Given the description of an element on the screen output the (x, y) to click on. 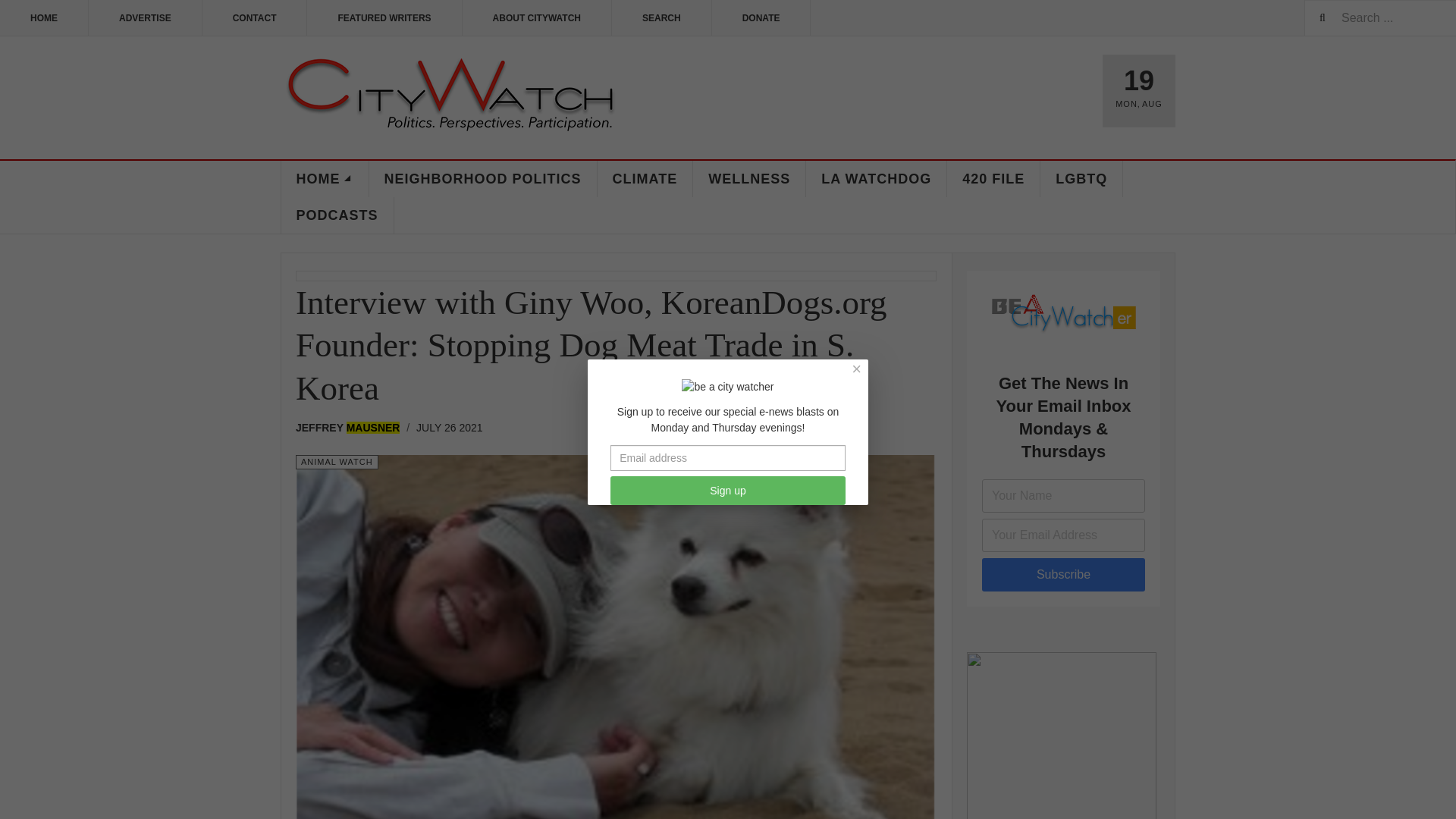
HOME (44, 18)
ABOUT CITYWATCH (537, 18)
PODCASTS (337, 215)
LGBTQ (1081, 178)
Category:  (336, 462)
HOME (324, 178)
WELLNESS (749, 178)
DONATE (760, 18)
SEARCH (661, 18)
CONTACT (254, 18)
